Given the description of an element on the screen output the (x, y) to click on. 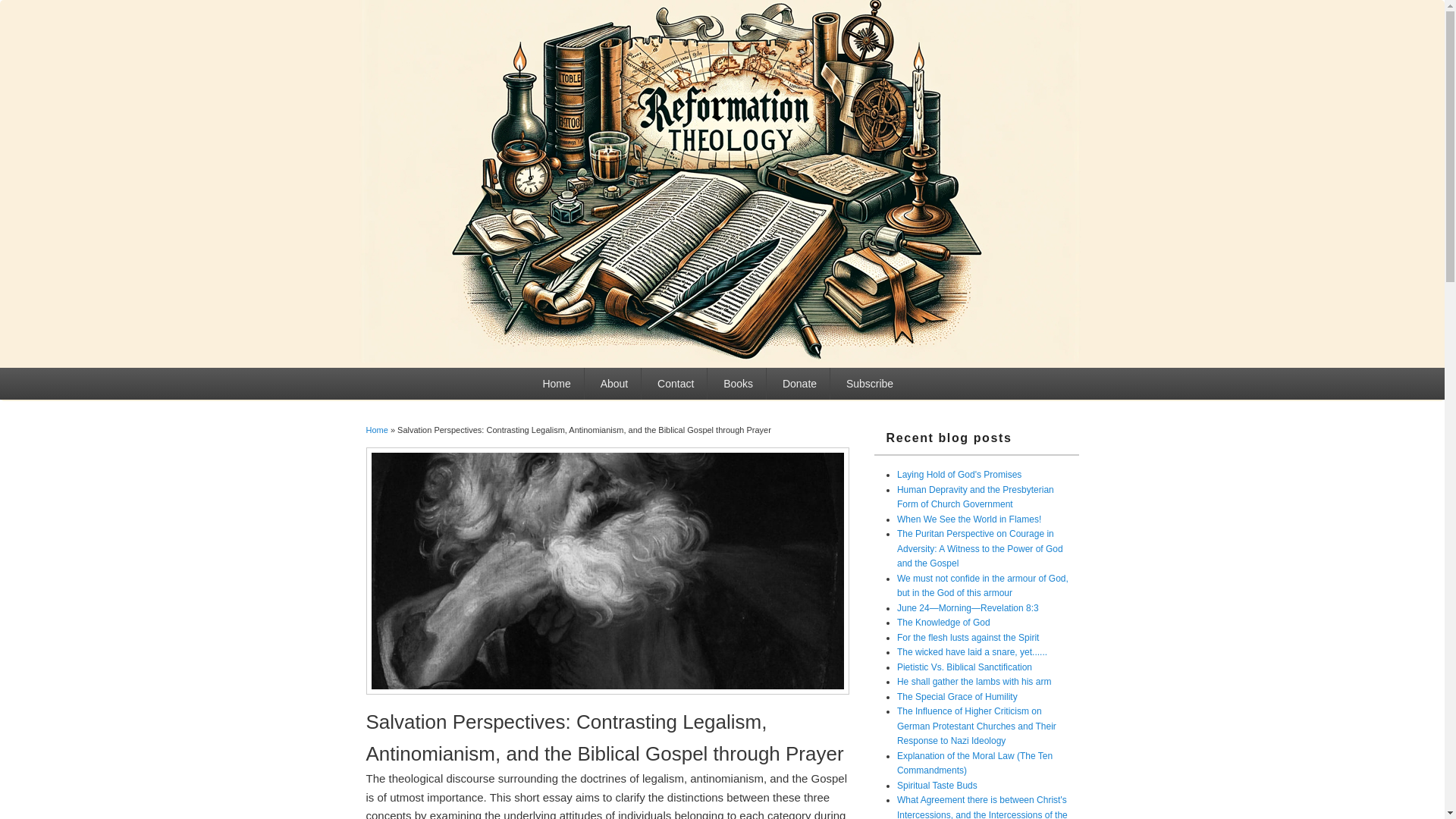
Laying Hold of God's Promises (959, 474)
Donate (799, 383)
When We See the World in Flames! (968, 519)
The Special Grace of Humility (956, 696)
He shall gather the lambs with his arm (973, 681)
Home (376, 429)
Home (556, 383)
Subscribe (868, 383)
Pietistic Vs. Biblical Sanctification (964, 666)
The Knowledge of God (943, 622)
For the flesh lusts against the Spirit (967, 637)
